Given the description of an element on the screen output the (x, y) to click on. 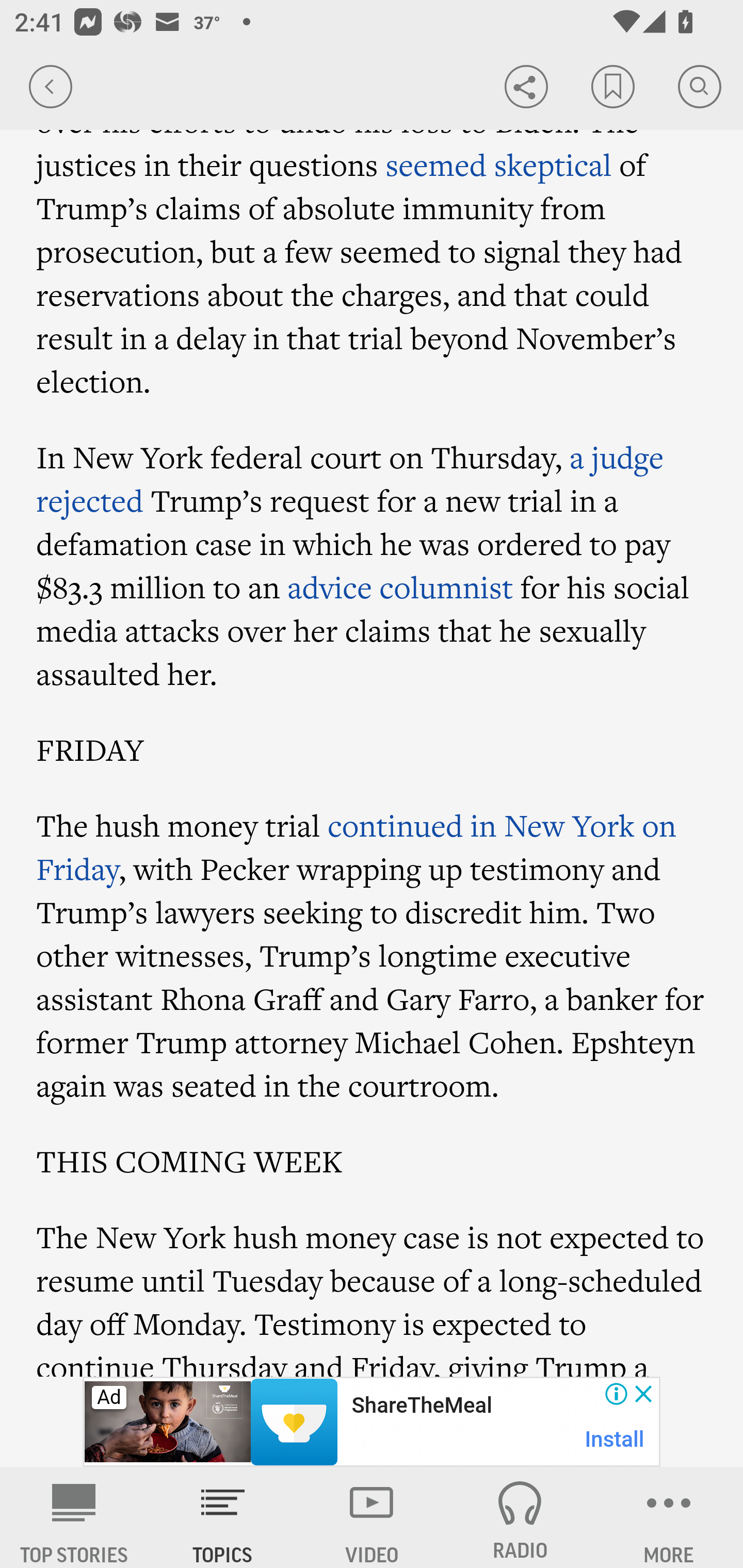
seemed skeptical (498, 164)
a judge rejected (350, 478)
advice columnist (400, 587)
continued in New York on Friday (356, 846)
ShareTheMeal (420, 1405)
Install (614, 1438)
AP News TOP STORIES (74, 1517)
TOPICS (222, 1517)
VIDEO (371, 1517)
RADIO (519, 1517)
MORE (668, 1517)
